Given the description of an element on the screen output the (x, y) to click on. 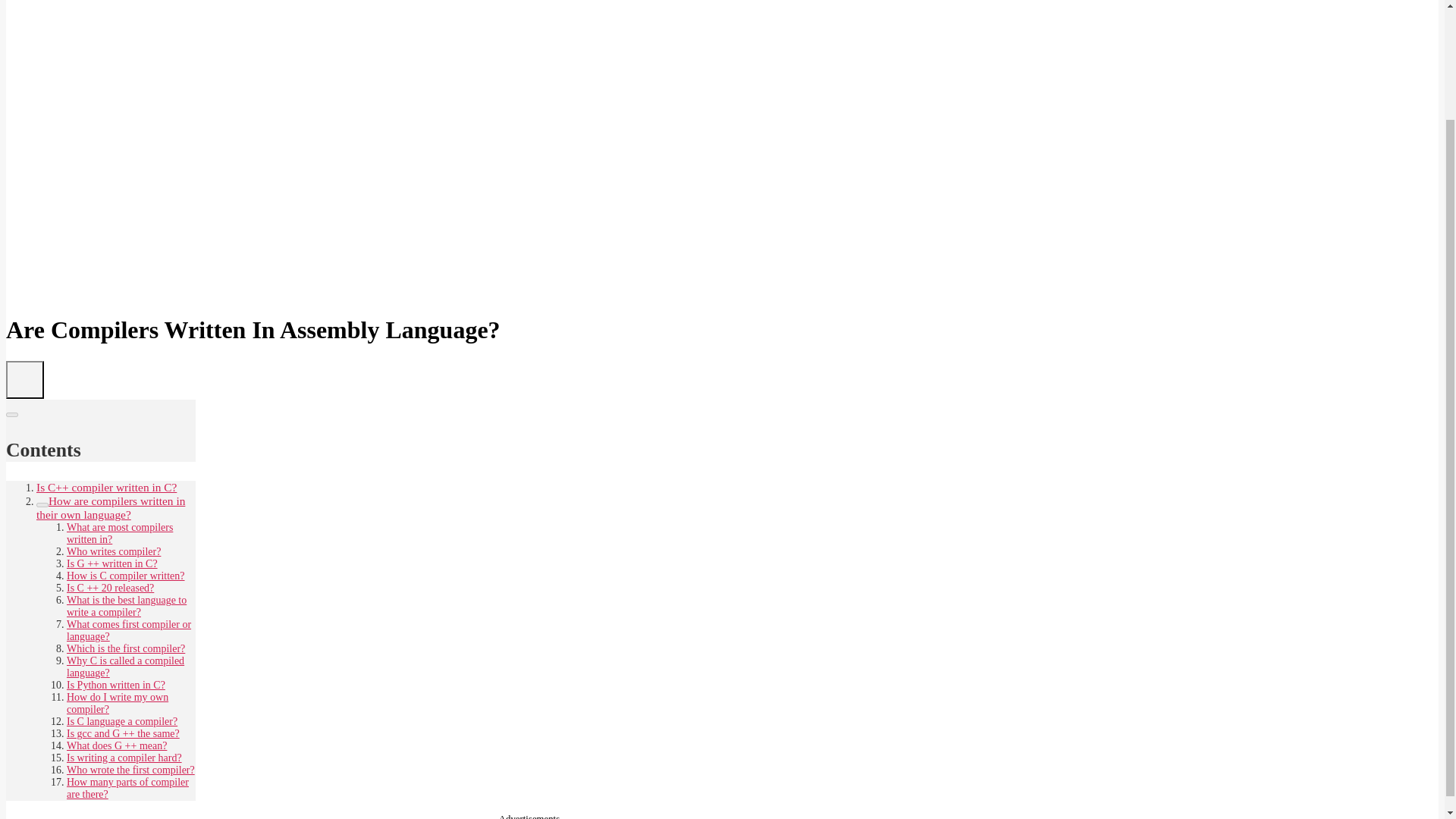
Which is the first compiler? (125, 648)
Is writing a compiler hard? (124, 757)
click To Maximize The Table Of Contents (24, 379)
What comes first compiler or language? (128, 630)
How are compilers written in their own language? (110, 508)
What is the best language to write a compiler? (126, 606)
Who writes compiler? (113, 551)
Why C is called a compiled language? (125, 666)
How is C compiler written? (125, 575)
Is C language a compiler? (121, 721)
How many parts of compiler are there? (127, 788)
Who wrote the first compiler? (130, 769)
How do I write my own compiler? (117, 702)
What are most compilers written in? (119, 533)
Is Python written in C? (115, 685)
